Given the description of an element on the screen output the (x, y) to click on. 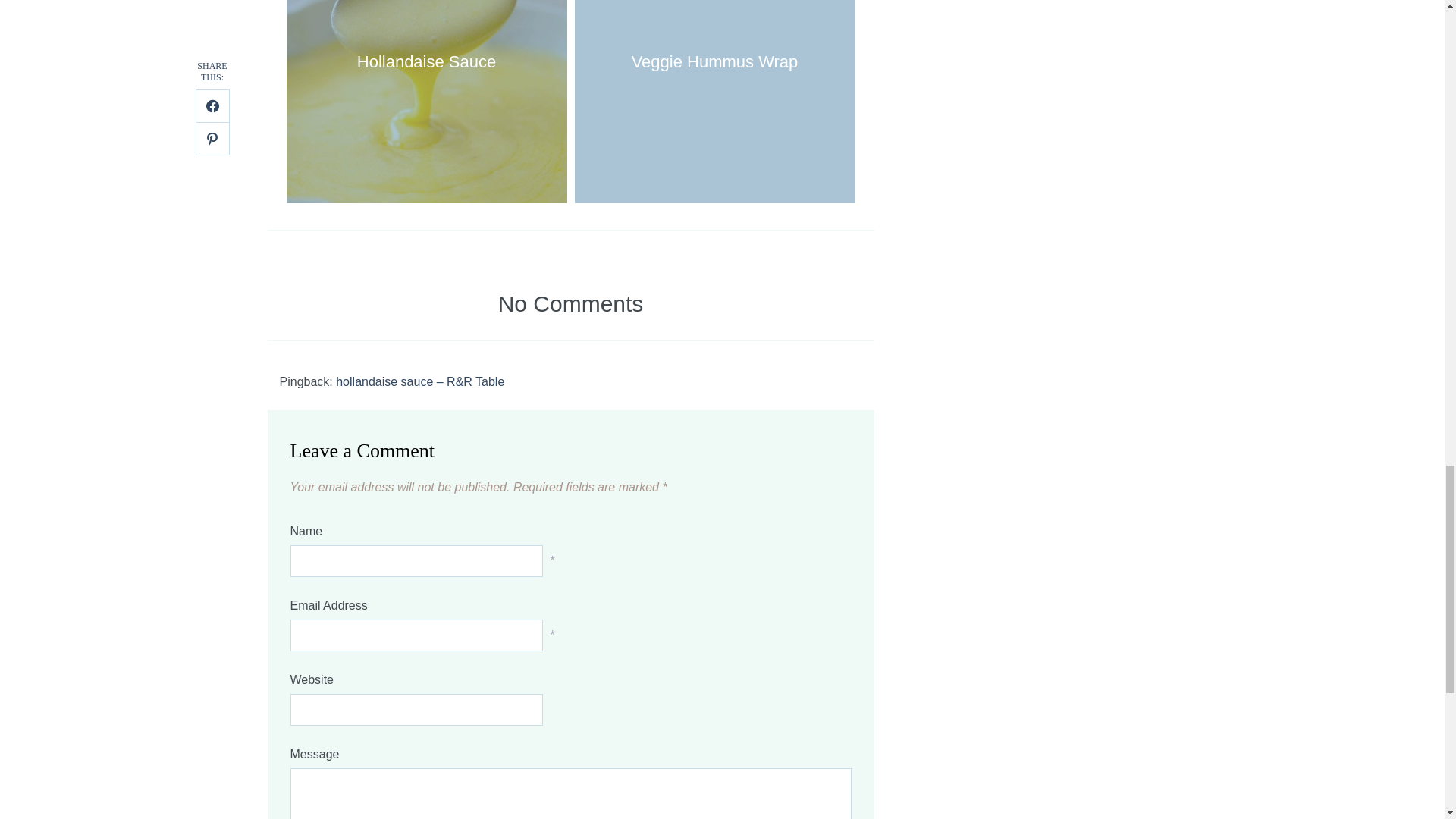
Hollandaise Sauce (426, 103)
Veggie Hummus Wrap (714, 103)
Hollandaise Sauce (426, 103)
Veggie Hummus Wrap (714, 103)
